Given the description of an element on the screen output the (x, y) to click on. 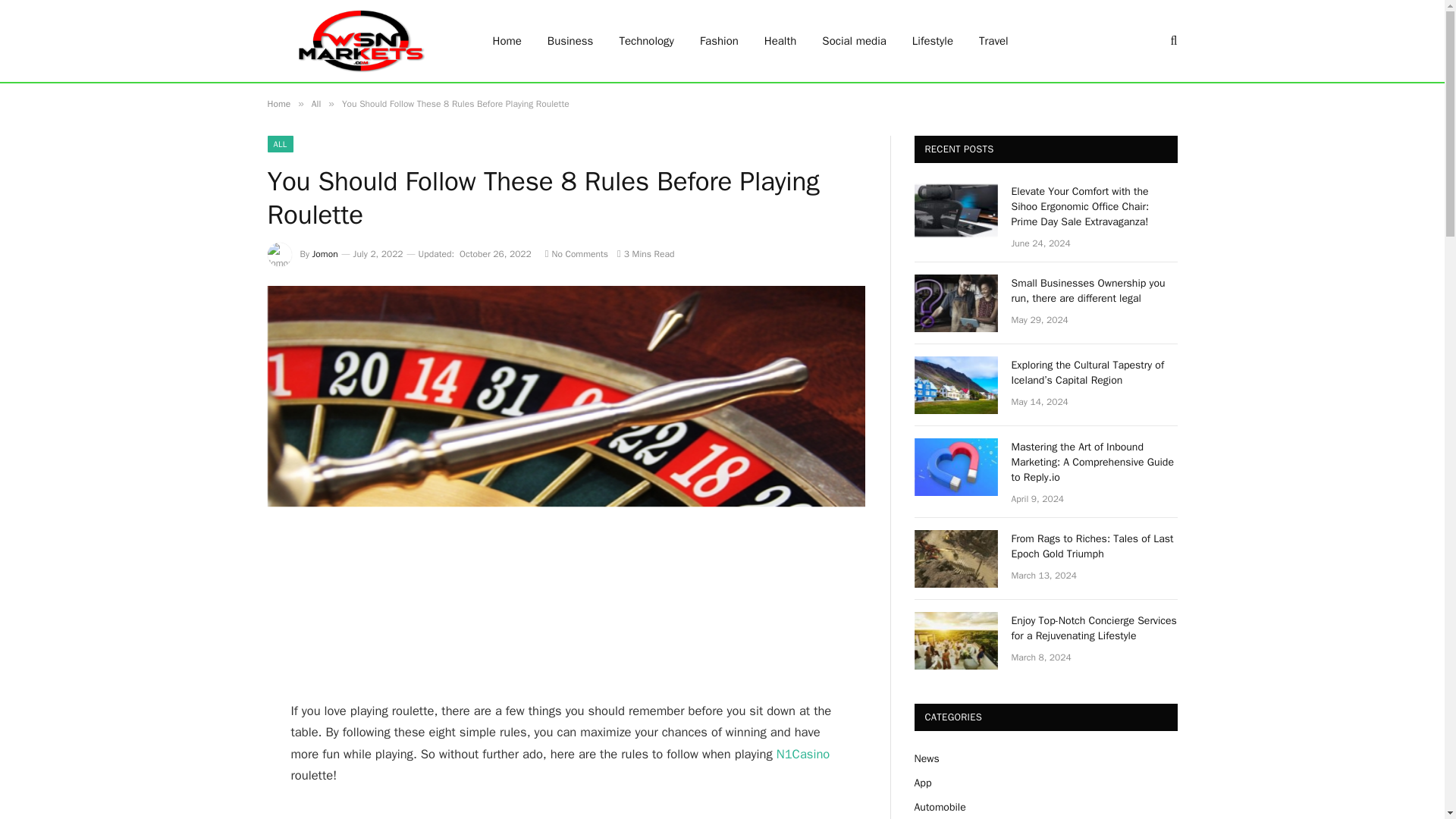
ALL (279, 143)
Home (277, 103)
Wsnmarkets (359, 41)
No Comments (576, 254)
Technology (646, 40)
Social media (853, 40)
